Given the description of an element on the screen output the (x, y) to click on. 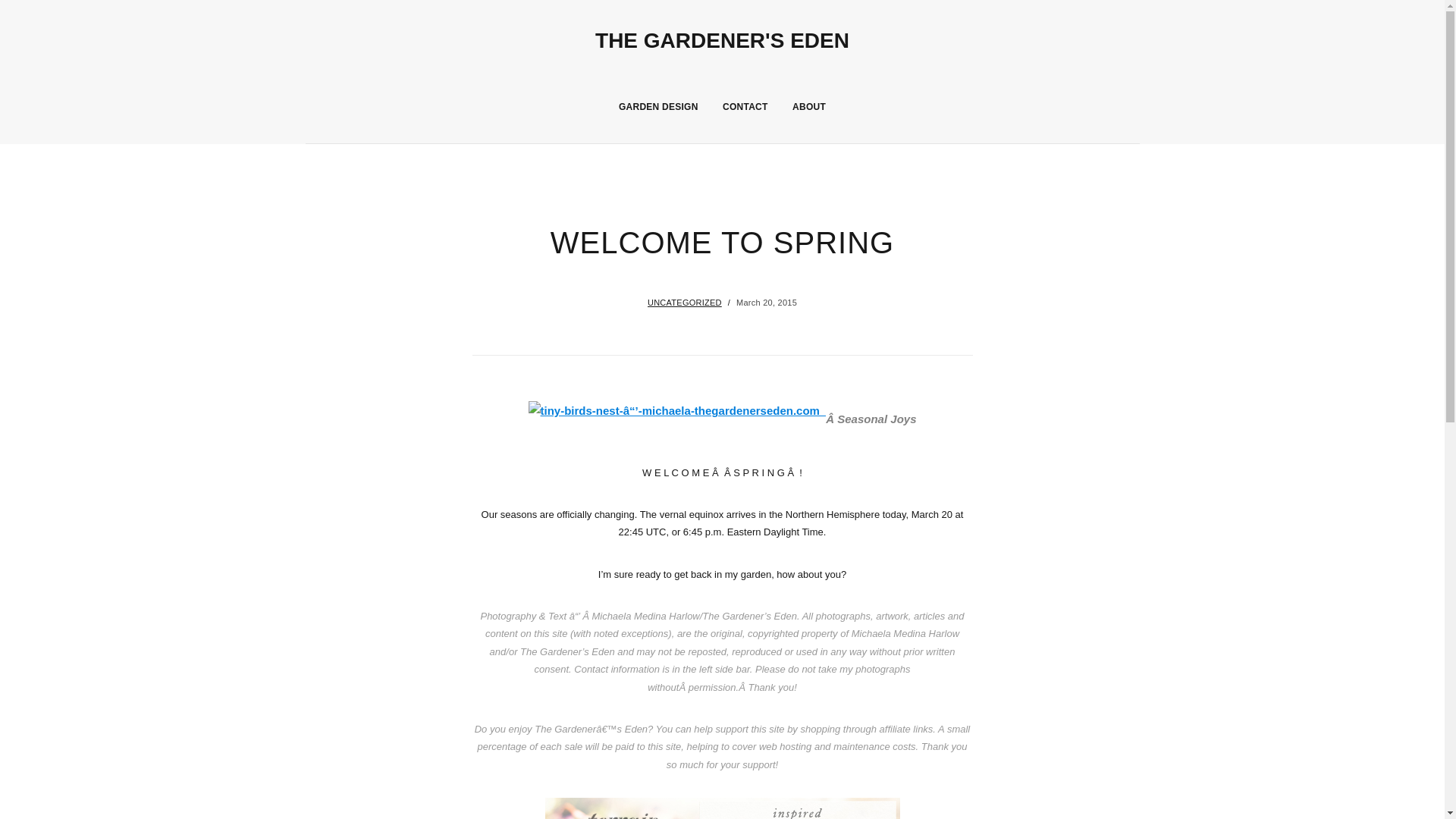
CONTACT (745, 106)
GARDEN DESIGN (658, 106)
ABOUT (808, 106)
THE GARDENER'S EDEN (721, 40)
UNCATEGORIZED (684, 302)
